Given the description of an element on the screen output the (x, y) to click on. 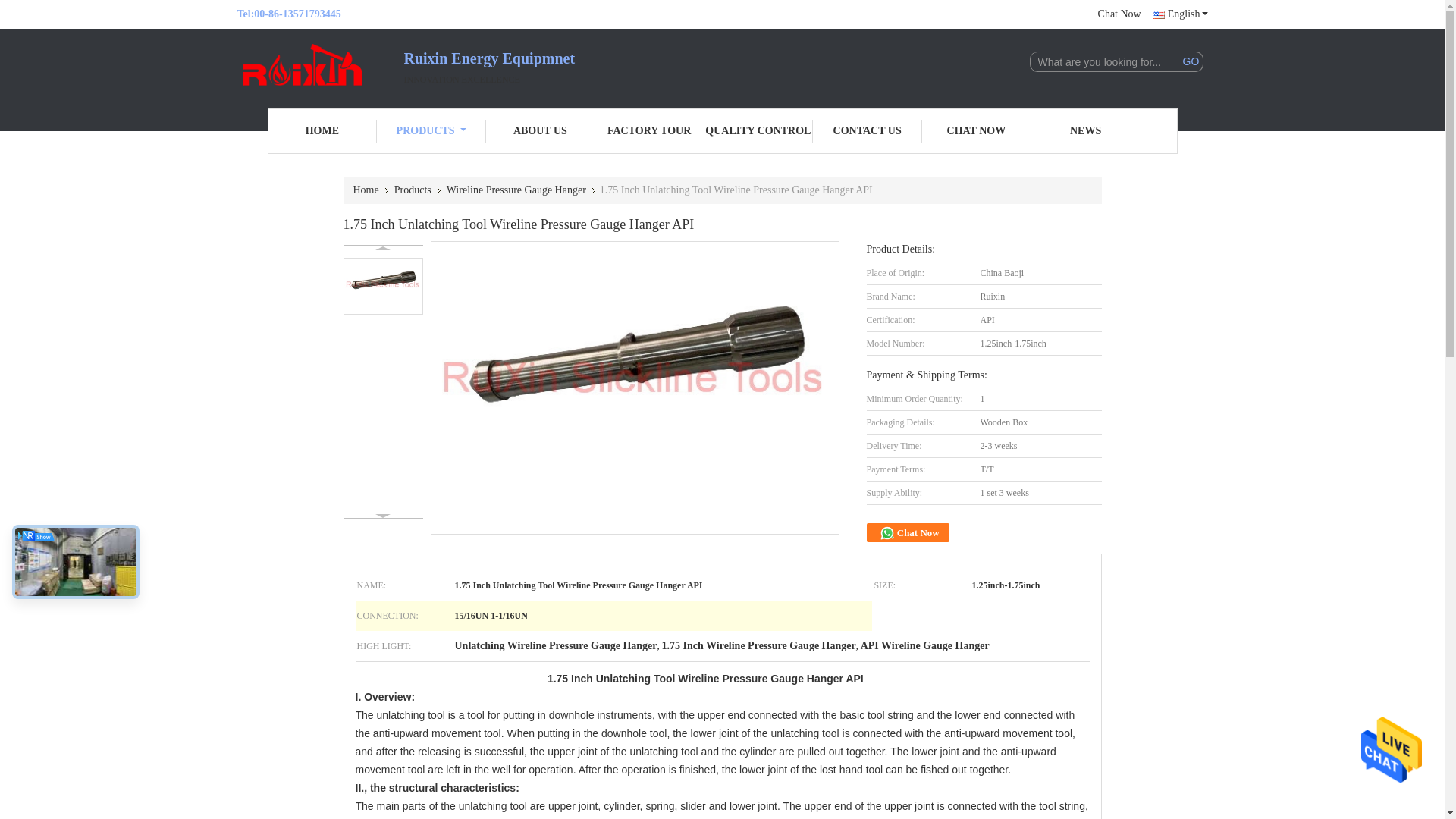
PRODUCTS (431, 130)
GO (1190, 61)
Chat Now (1119, 14)
GO (1190, 61)
English (1180, 14)
HOME (322, 130)
